Given the description of an element on the screen output the (x, y) to click on. 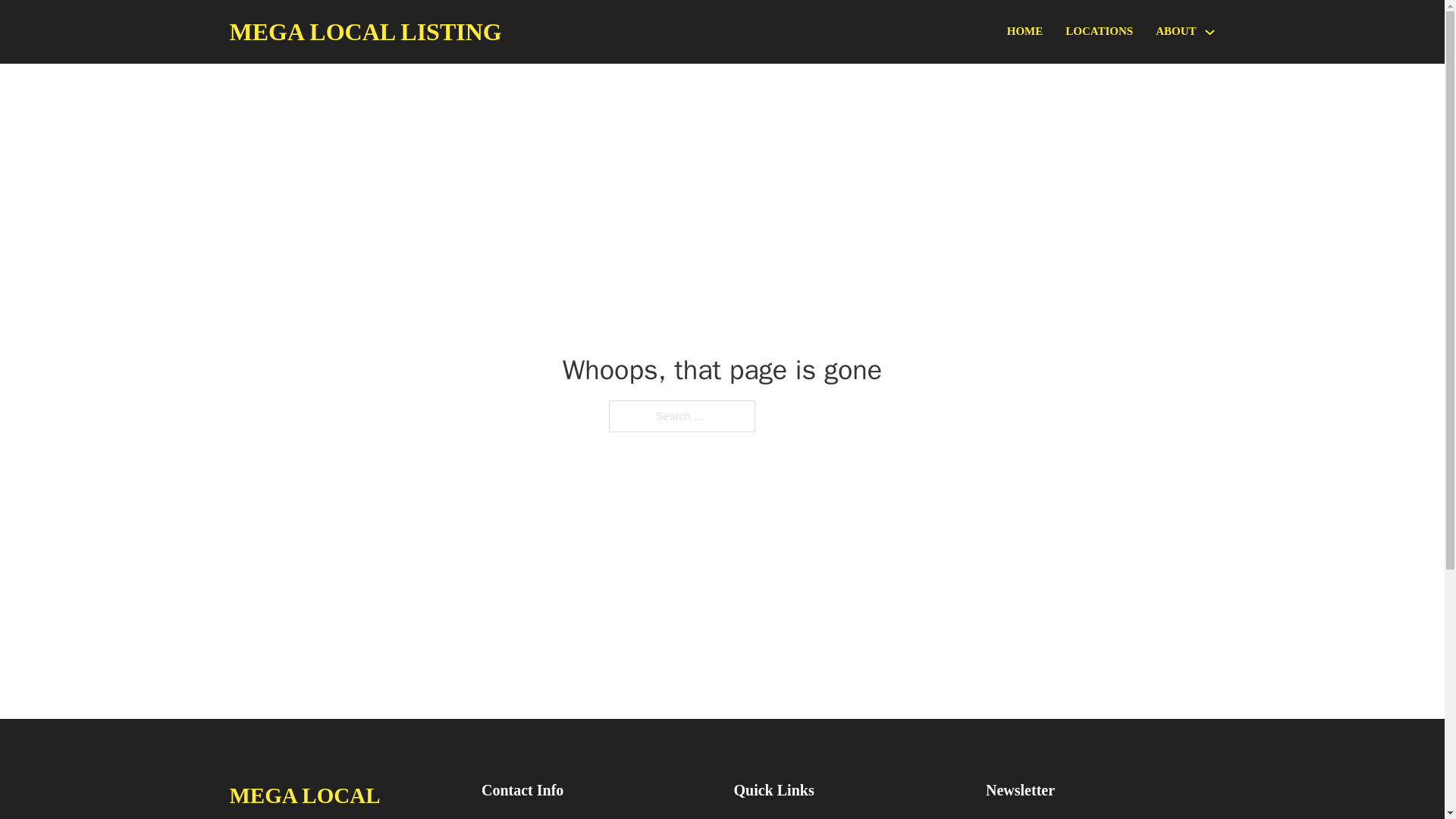
MEGA LOCAL LISTING (364, 31)
MEGA LOCAL LISTING (343, 798)
HOME (1025, 31)
LOCATIONS (1098, 31)
